Given the description of an element on the screen output the (x, y) to click on. 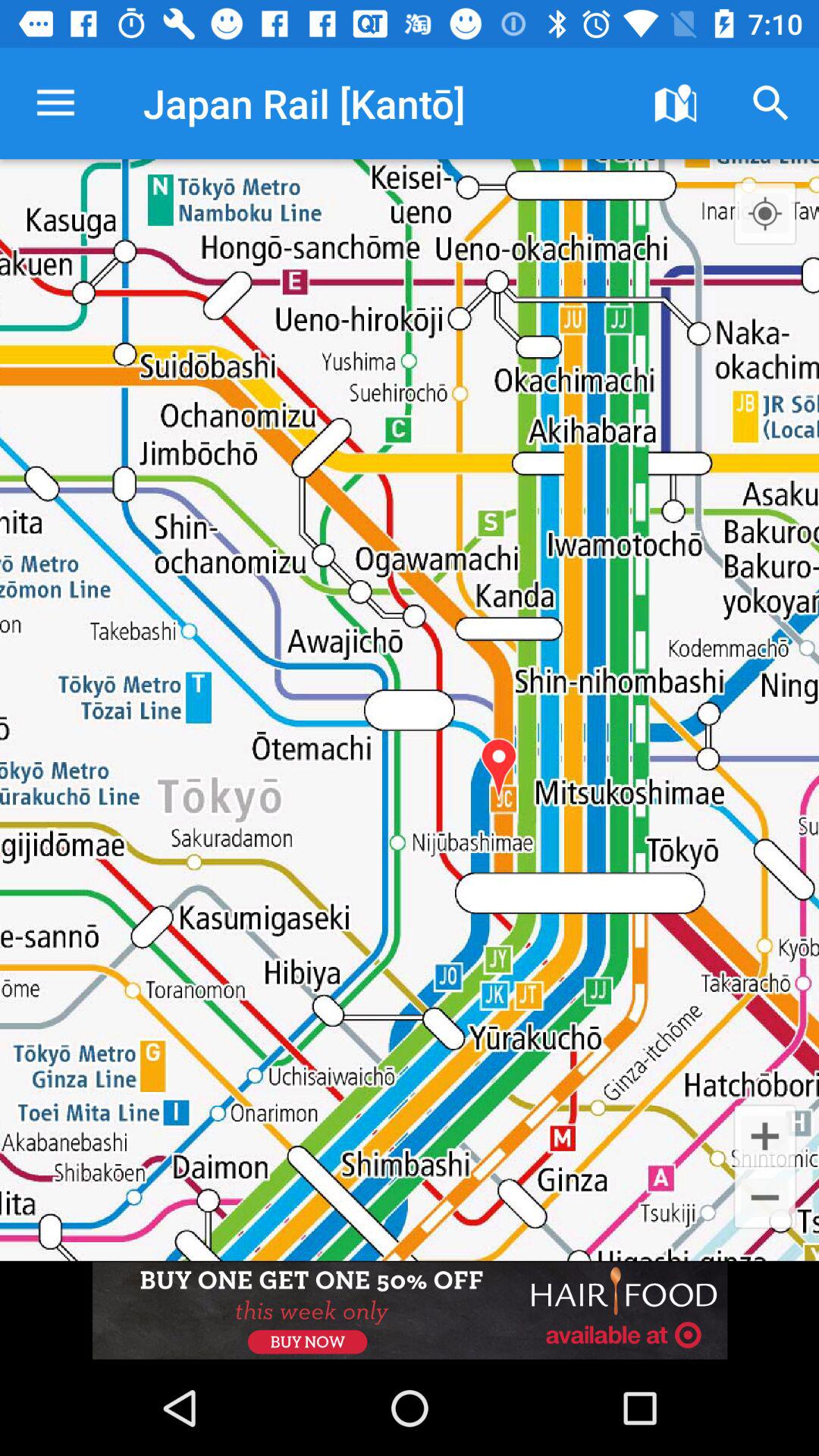
open location menu (764, 213)
